Given the description of an element on the screen output the (x, y) to click on. 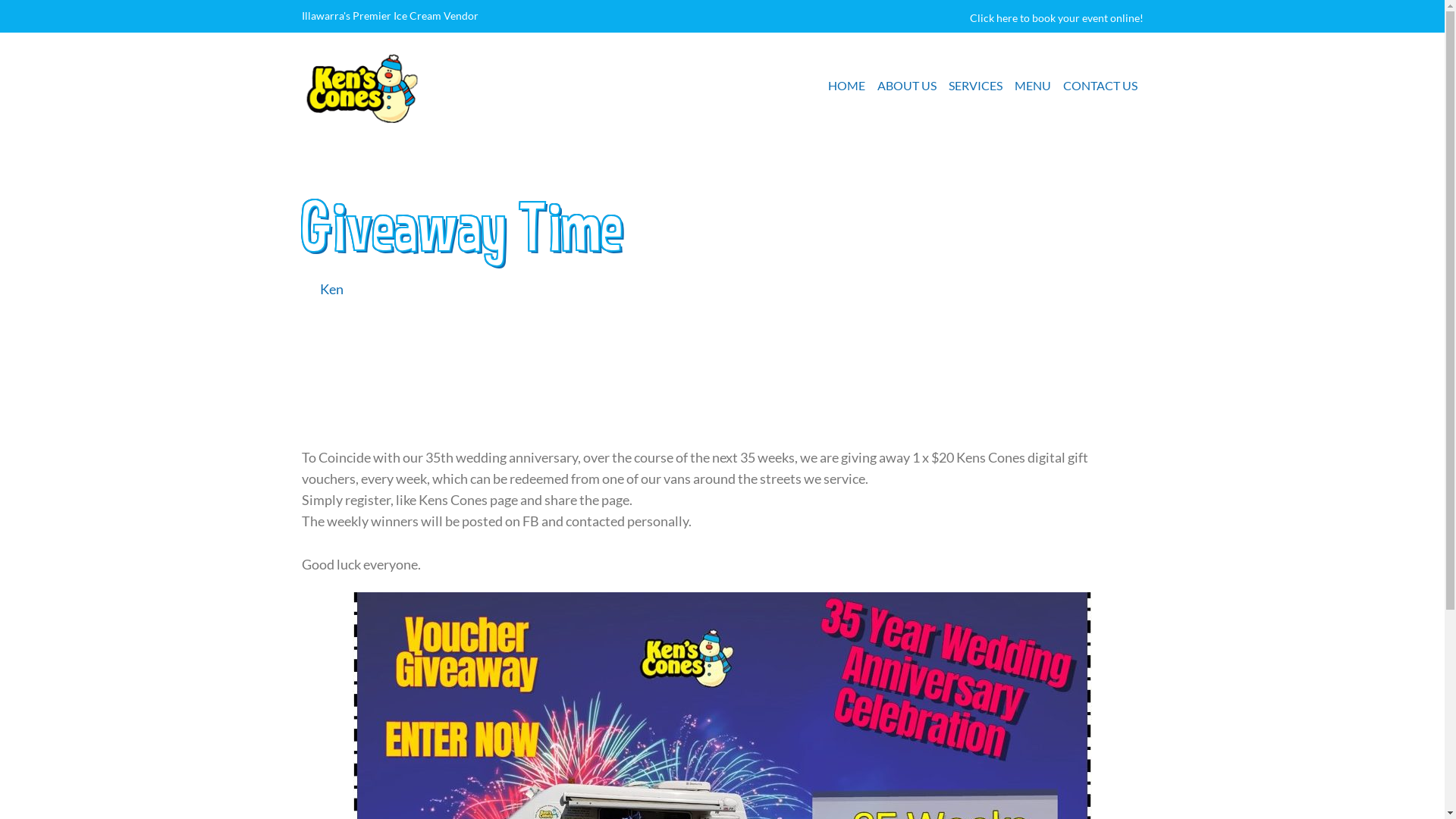
SERVICES Element type: text (974, 85)
MENU Element type: text (1032, 85)
CONTACT US Element type: text (1100, 85)
Ken Element type: text (331, 289)
ABOUT US Element type: text (905, 85)
HOME Element type: text (846, 85)
Click here to book your event online! Element type: text (1055, 17)
